Given the description of an element on the screen output the (x, y) to click on. 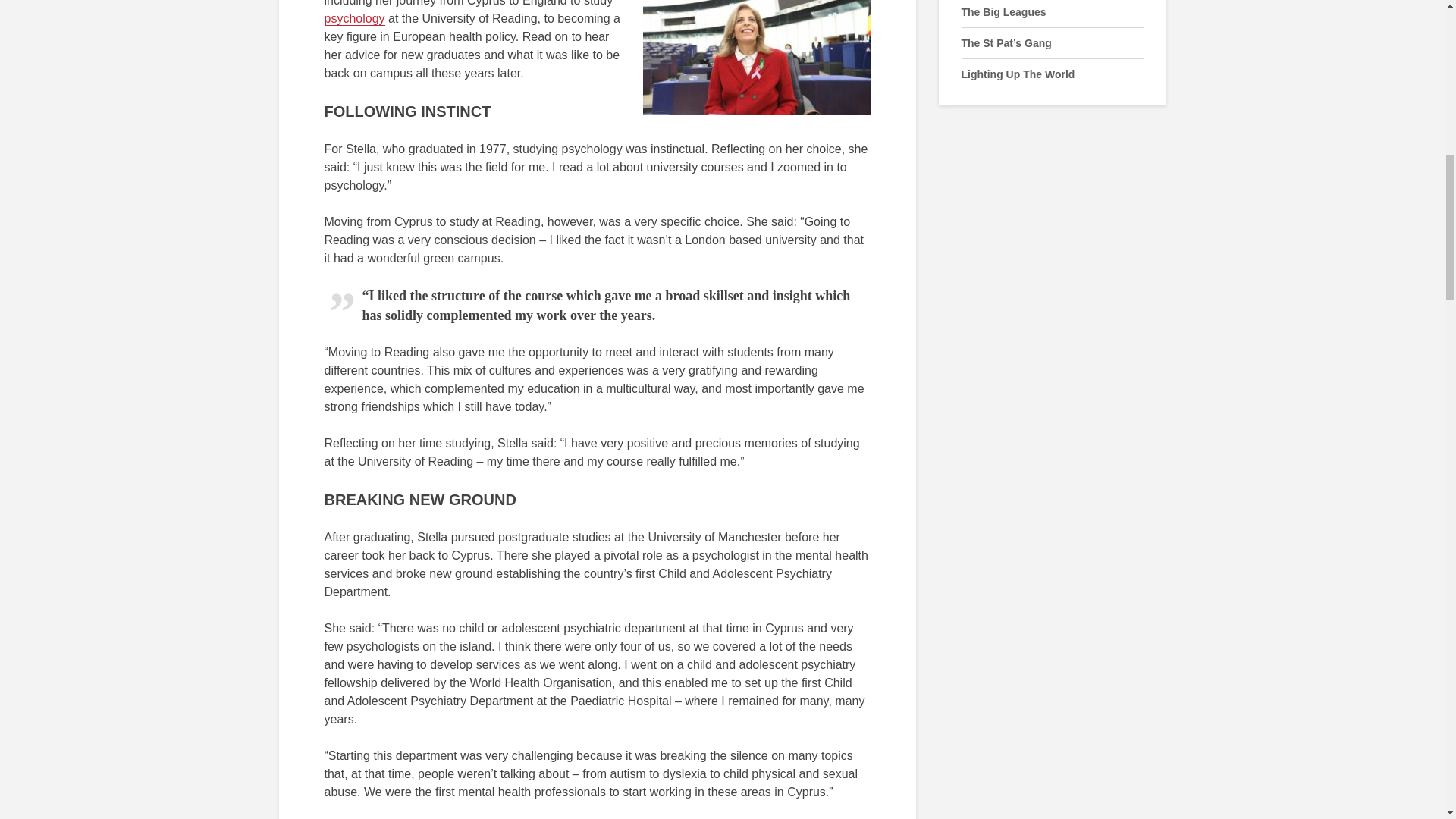
psychology (354, 18)
